Given the description of an element on the screen output the (x, y) to click on. 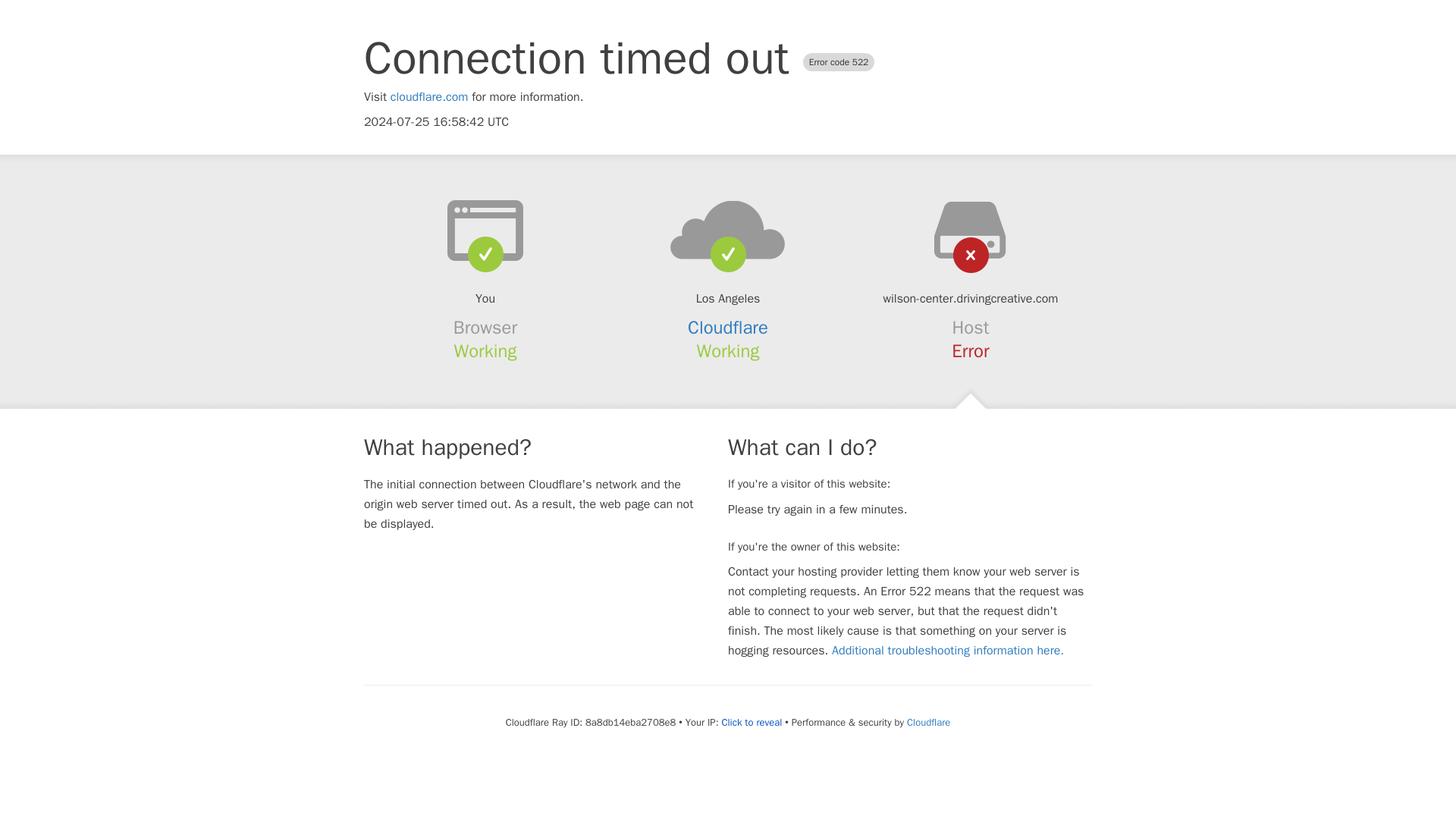
Click to reveal (750, 722)
cloudflare.com (429, 96)
Additional troubleshooting information here. (947, 650)
Cloudflare (727, 327)
Cloudflare (928, 721)
